Given the description of an element on the screen output the (x, y) to click on. 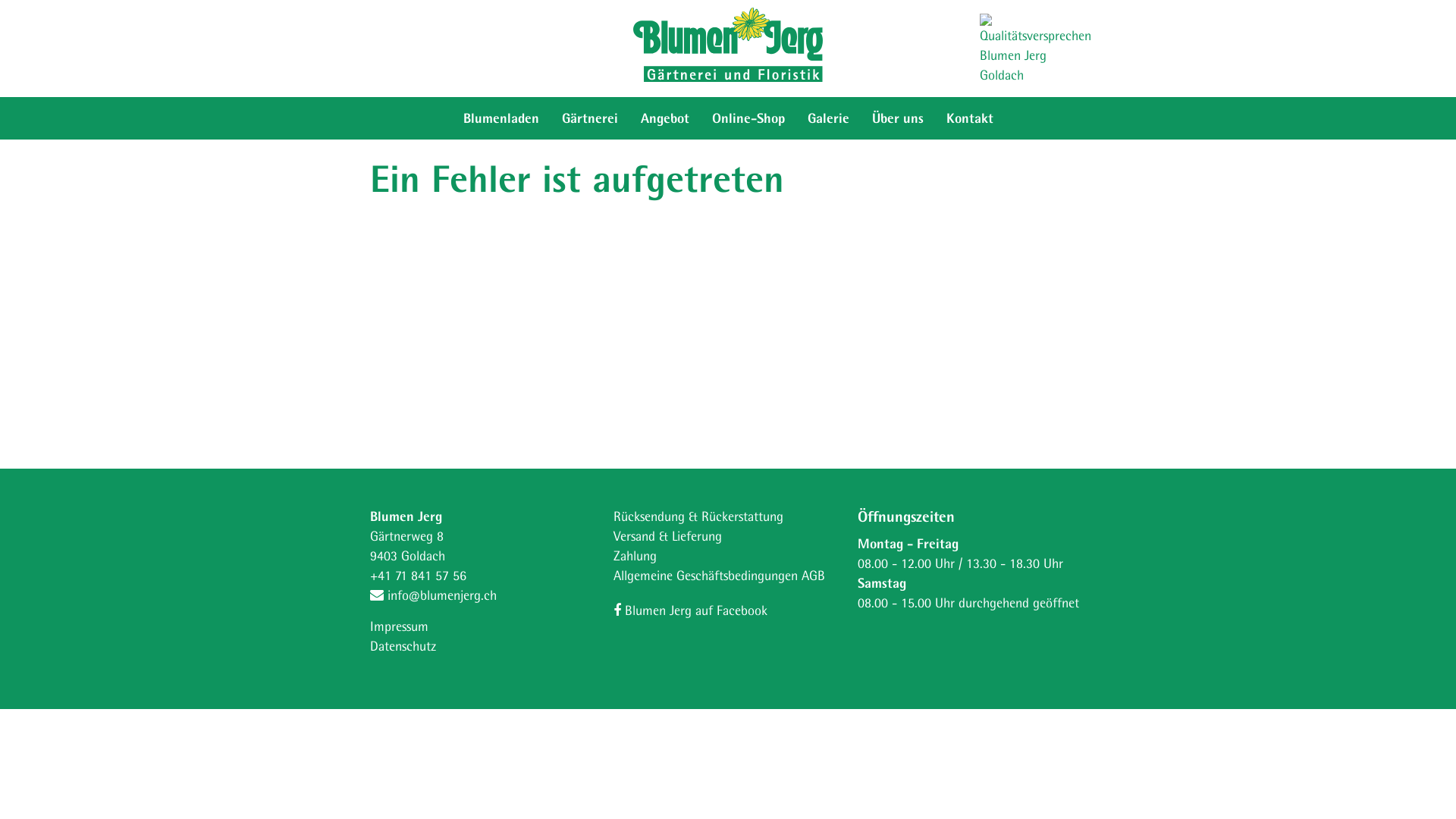
Blumenladen Element type: text (500, 118)
Kontakt Element type: text (969, 118)
+41 71 841 57 56 Element type: text (418, 575)
Zahlung Element type: text (634, 555)
Impressum Element type: text (399, 625)
Online-Shop Element type: text (748, 118)
Galerie Element type: text (828, 118)
Angebot Element type: text (664, 118)
Versand & Lieferung Element type: text (667, 535)
Datenschutz Element type: text (403, 645)
info@blumenjerg.ch Element type: text (433, 594)
Blumen Jerg auf Facebook Element type: text (690, 610)
